Given the description of an element on the screen output the (x, y) to click on. 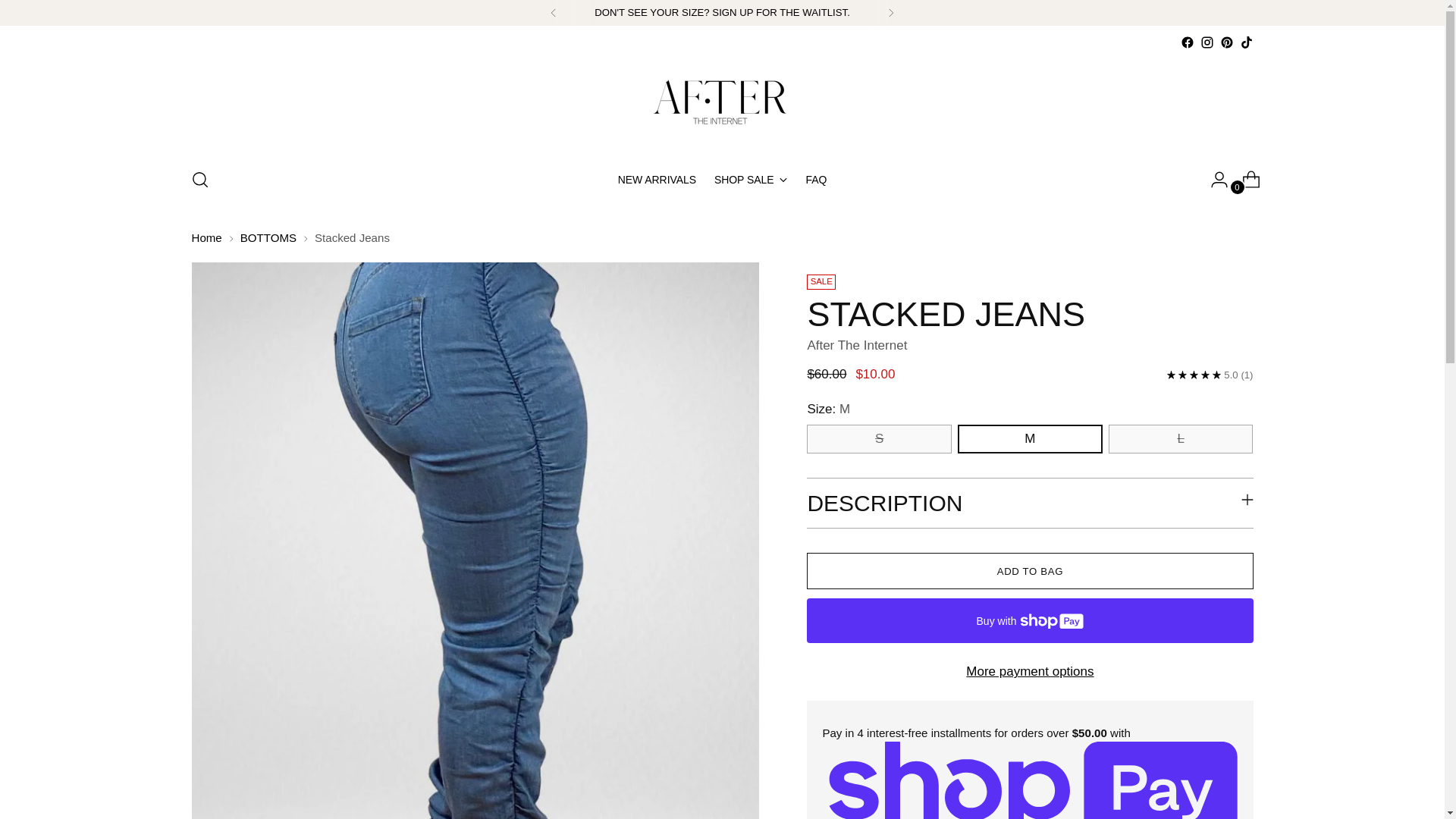
0 (1245, 179)
Previous (553, 12)
Next (891, 12)
After The Internet on Pinterest (1226, 42)
After The Internet on Facebook (1186, 42)
NEW ARRIVALS (722, 179)
SHOP SALE (656, 179)
After The Internet (750, 179)
After The Internet on Tiktok (856, 345)
After The Internet on Instagram (1245, 42)
